Given the description of an element on the screen output the (x, y) to click on. 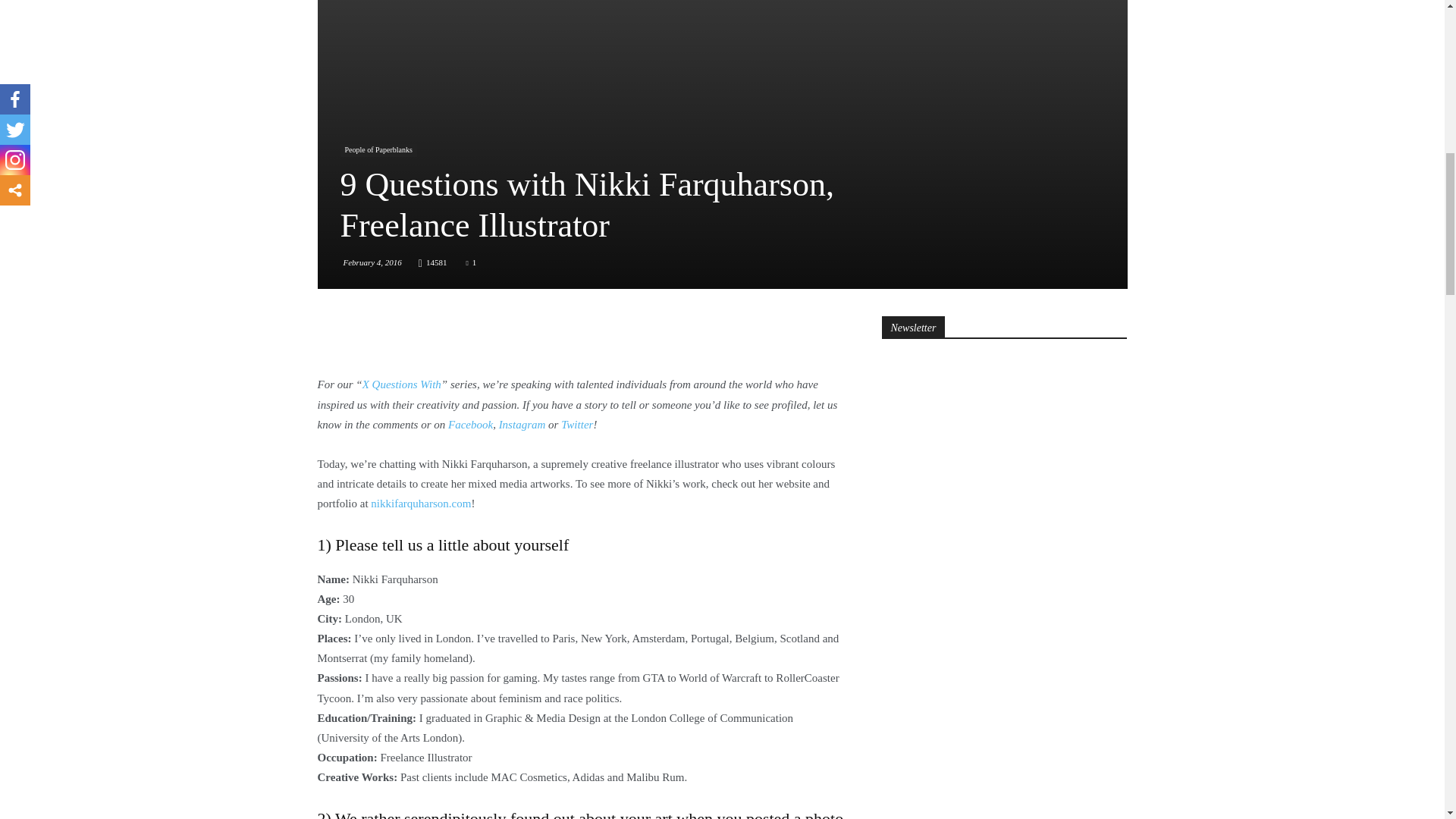
People of Paperblanks (377, 150)
1 (470, 261)
